Given the description of an element on the screen output the (x, y) to click on. 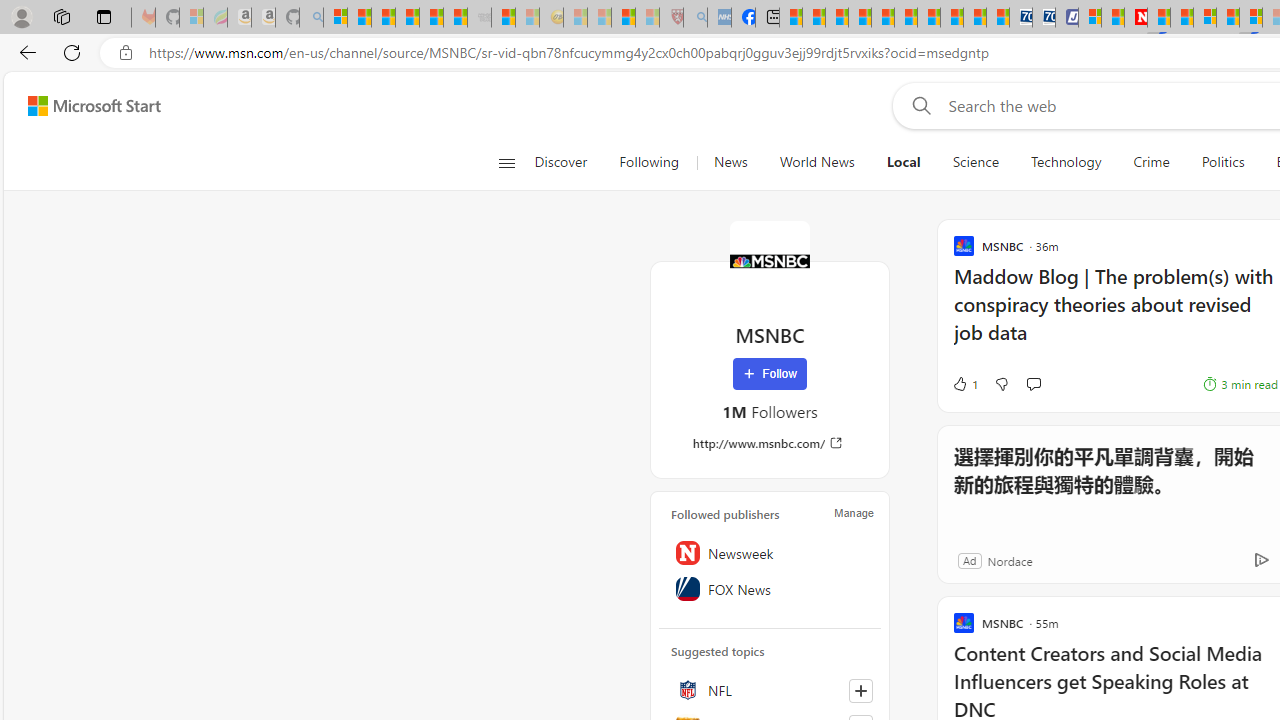
Climate Damage Becomes Too Severe To Reverse (859, 17)
NFL (770, 690)
